Given the description of an element on the screen output the (x, y) to click on. 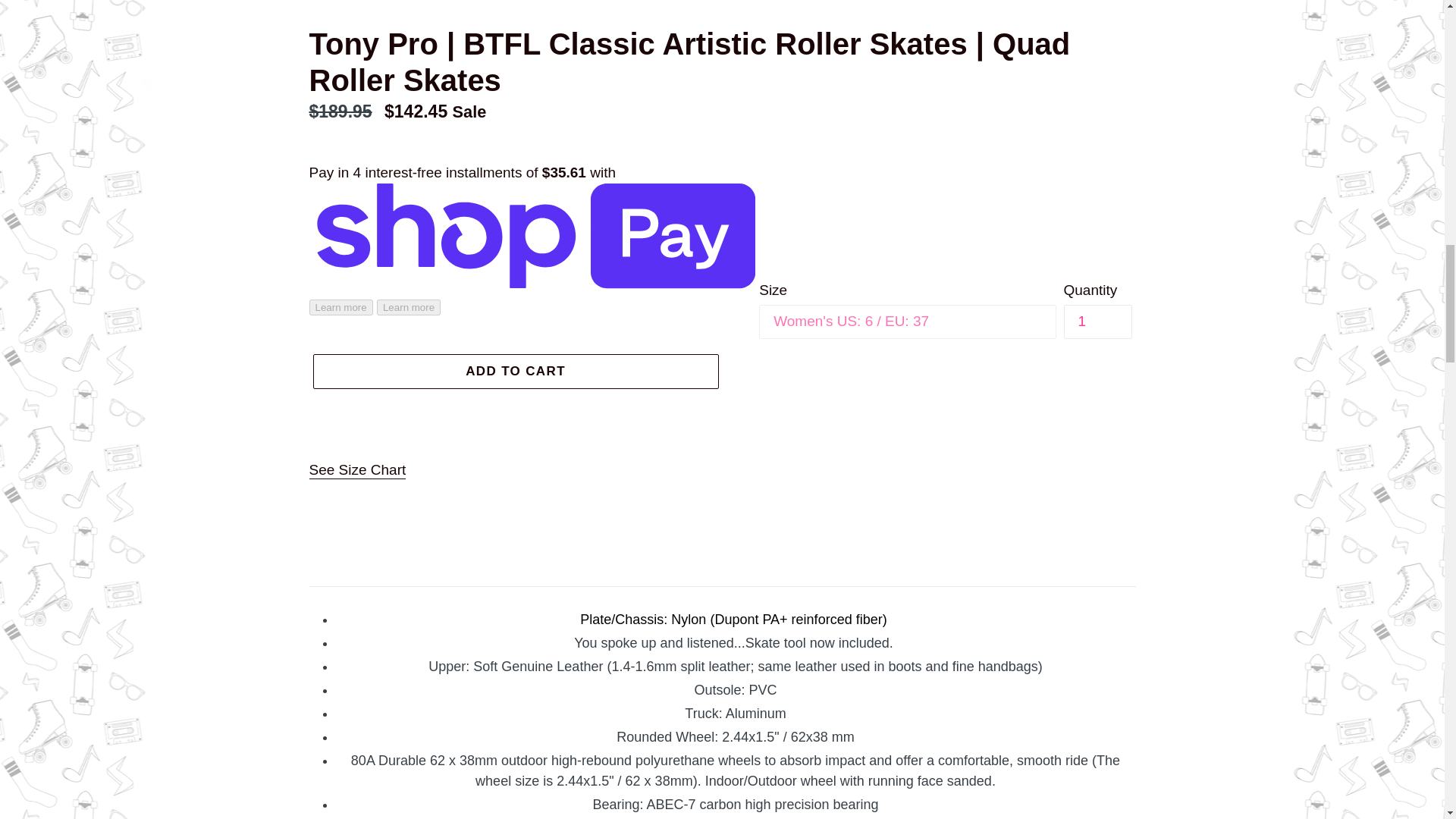
1 (1096, 321)
